Given the description of an element on the screen output the (x, y) to click on. 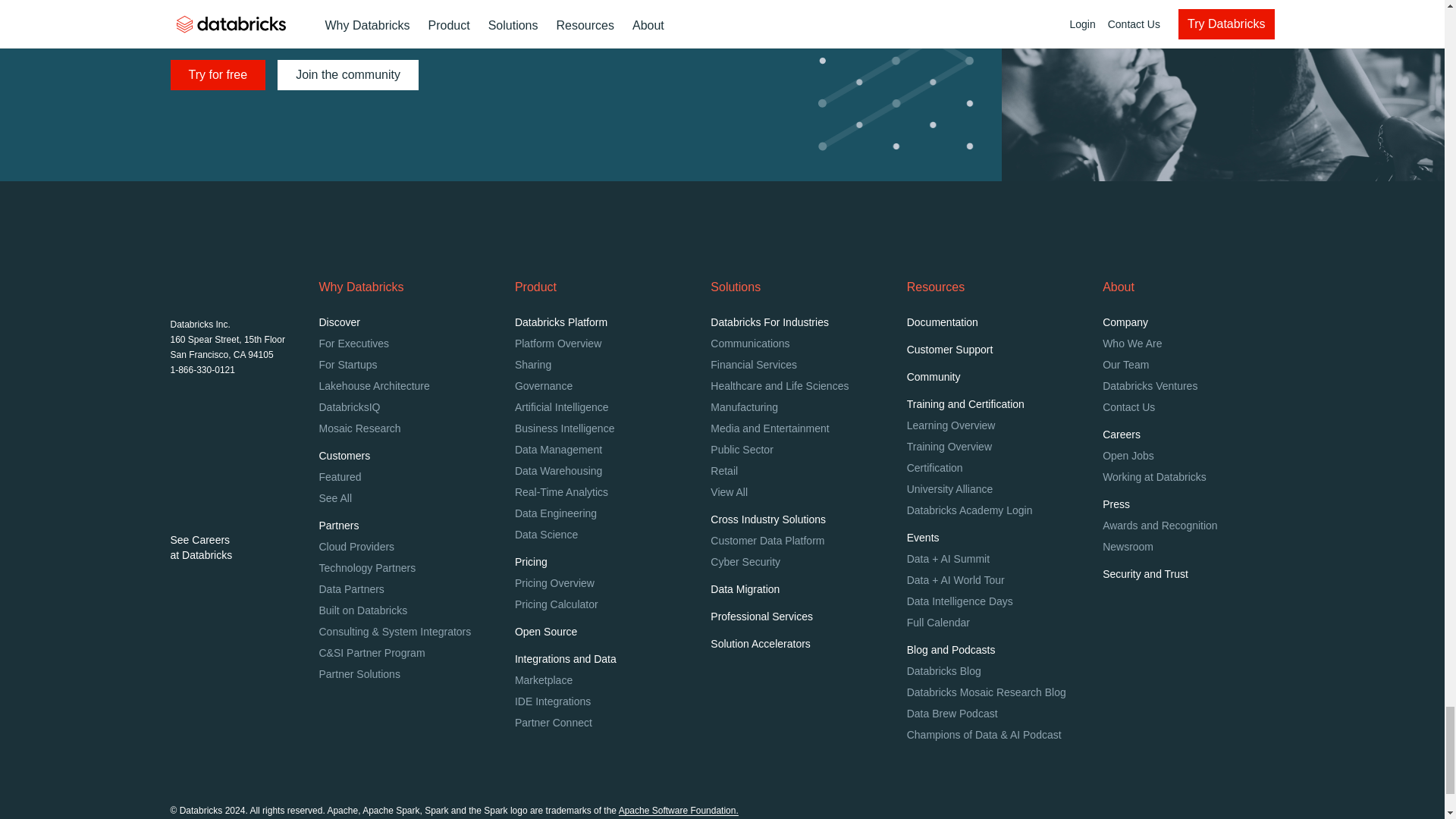
Join the community (348, 74)
Try for free (217, 74)
